Given the description of an element on the screen output the (x, y) to click on. 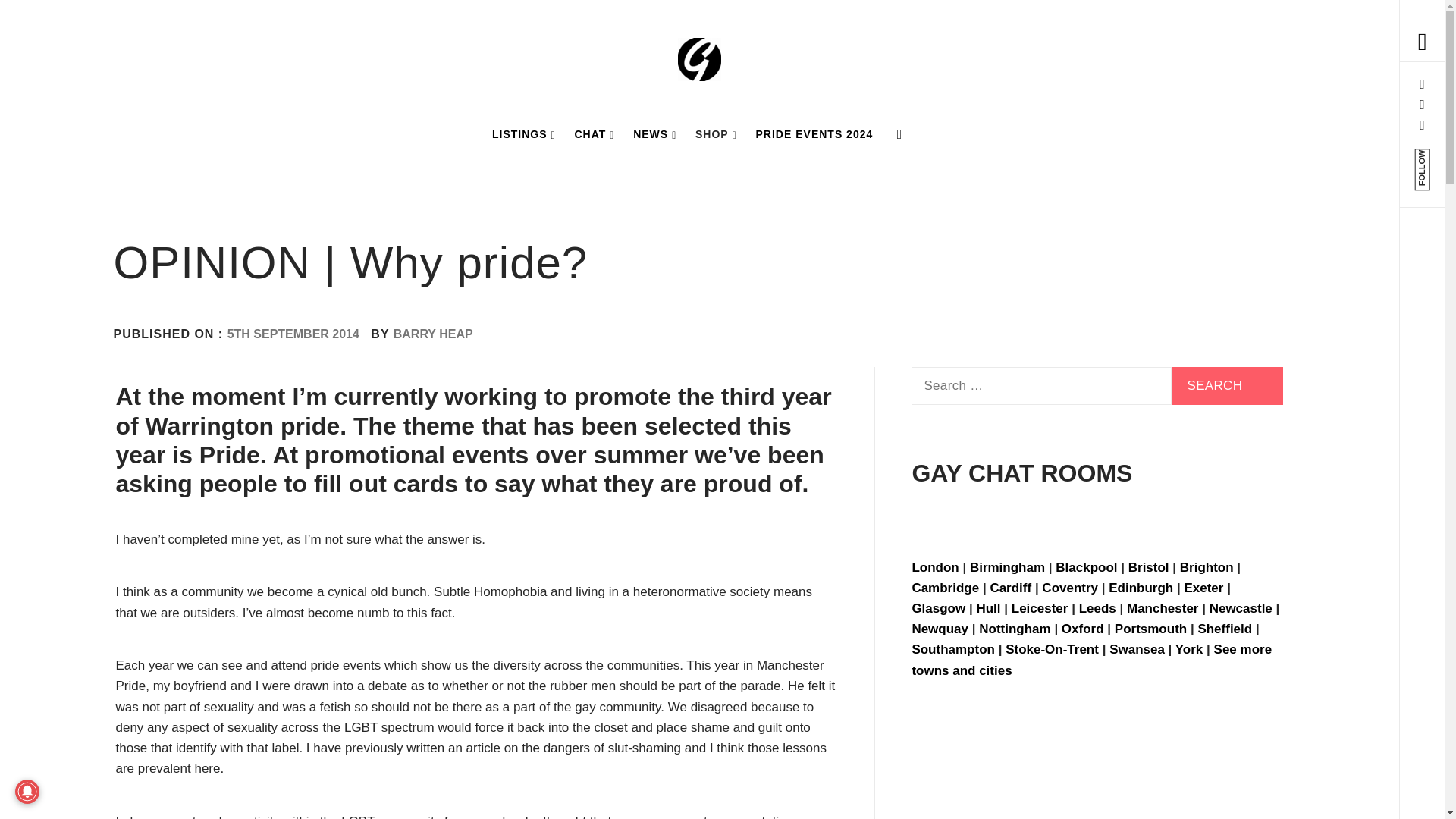
BARRY HEAP (433, 333)
SHOP (715, 134)
Search (1227, 385)
Search (1227, 385)
PRIDE EVENTS 2024 (814, 134)
LISTINGS (523, 134)
Search (646, 37)
5TH SEPTEMBER 2014 (293, 333)
NEWS (655, 134)
CHAT (593, 134)
